Given the description of an element on the screen output the (x, y) to click on. 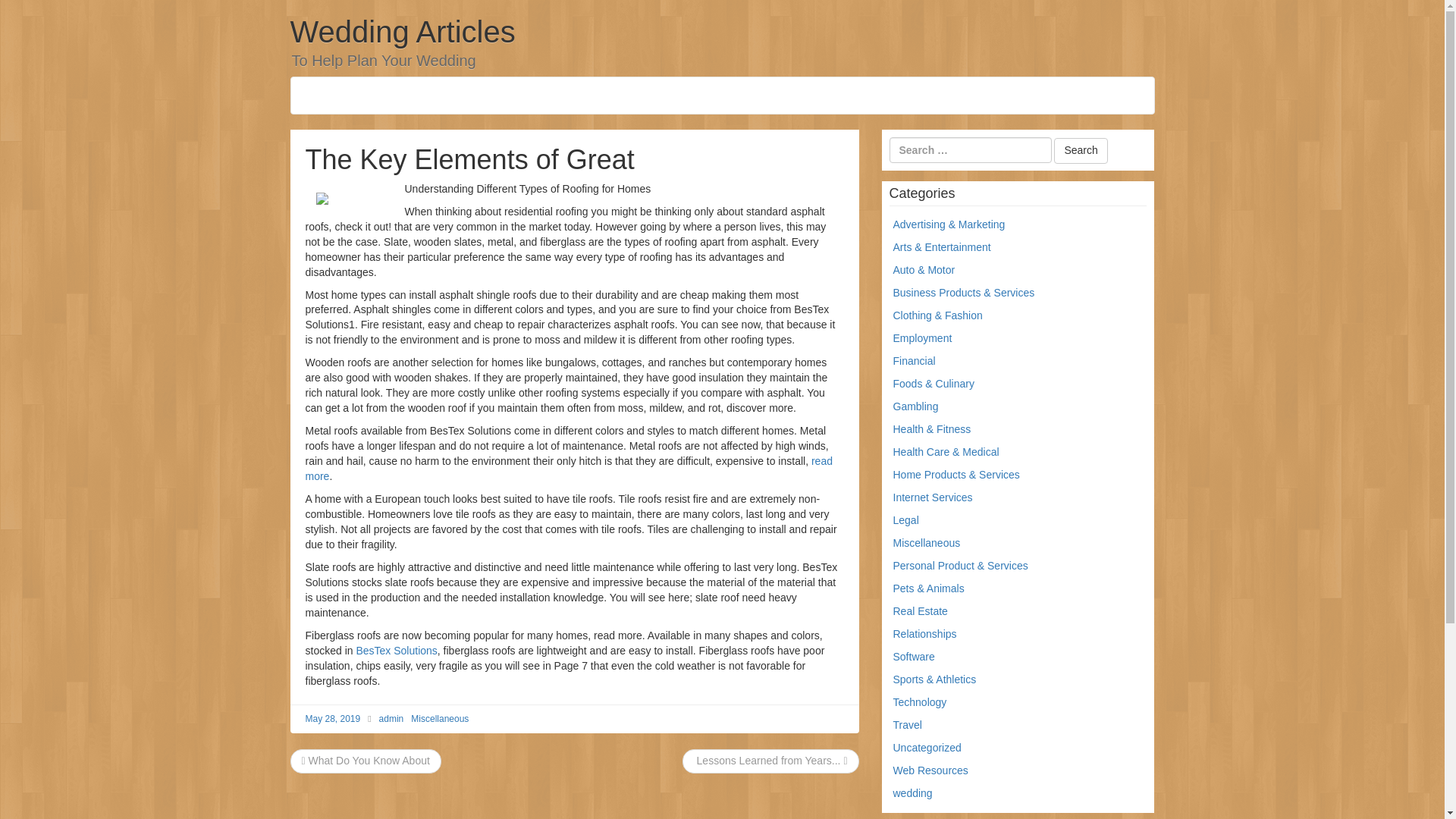
Web Resources (930, 770)
Wedding Articles (402, 31)
Search (1080, 150)
BesTex Solutions (395, 650)
Uncategorized (926, 747)
Employment (922, 337)
Legal (905, 520)
Real Estate (920, 611)
Search (1080, 150)
Search for: (969, 149)
May 28, 2019 (331, 718)
 What Do You Know About (365, 760)
Miscellaneous (439, 718)
Software (913, 656)
Miscellaneous (926, 542)
